Given the description of an element on the screen output the (x, y) to click on. 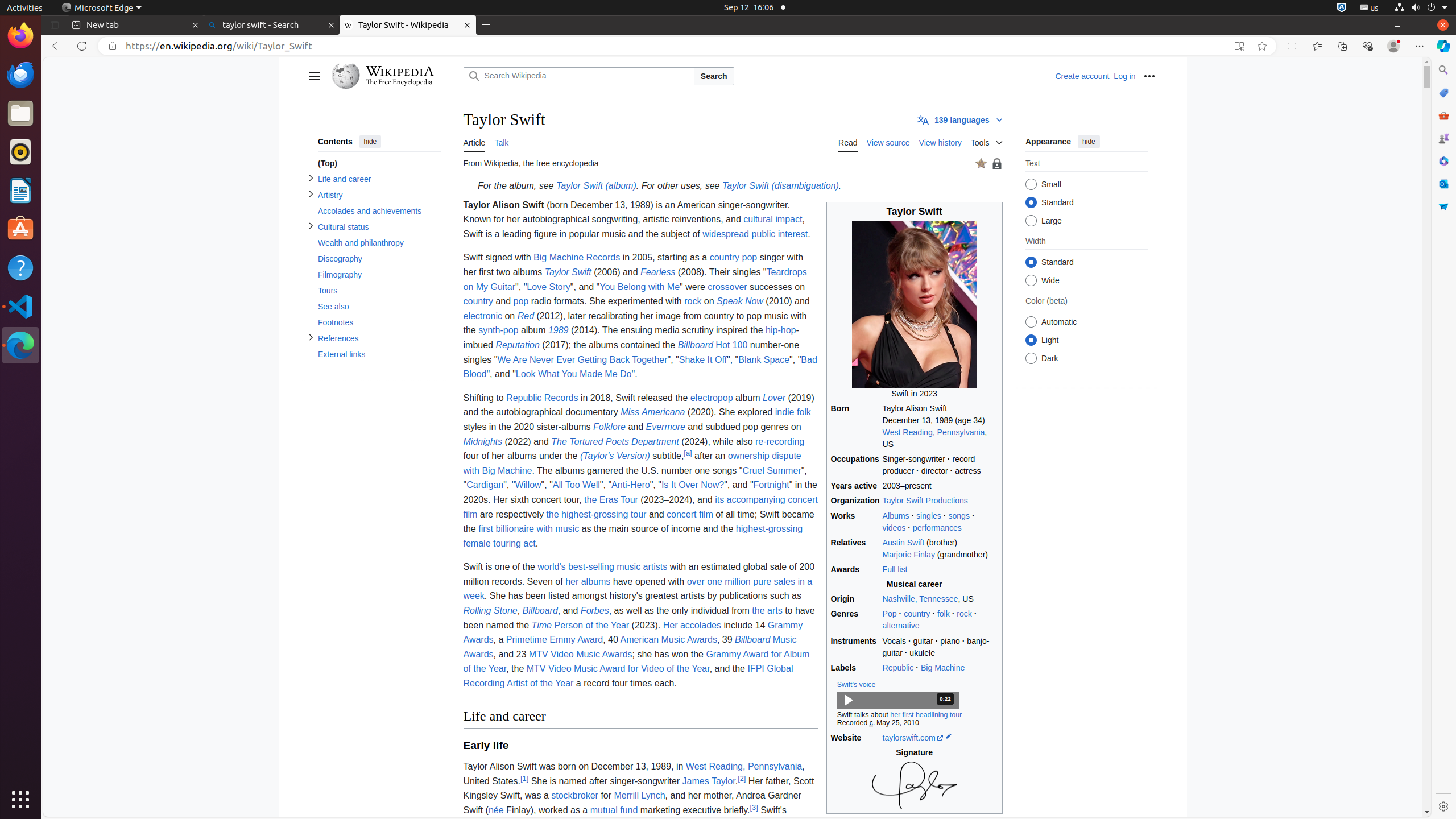
performances Element type: link (936, 527)
Log in Element type: link (1124, 75)
Taylor Swift Productions Element type: link (925, 500)
Profile 1 Profile, Please sign in Element type: push-button (1392, 46)
[3] Element type: link (753, 806)
